Given the description of an element on the screen output the (x, y) to click on. 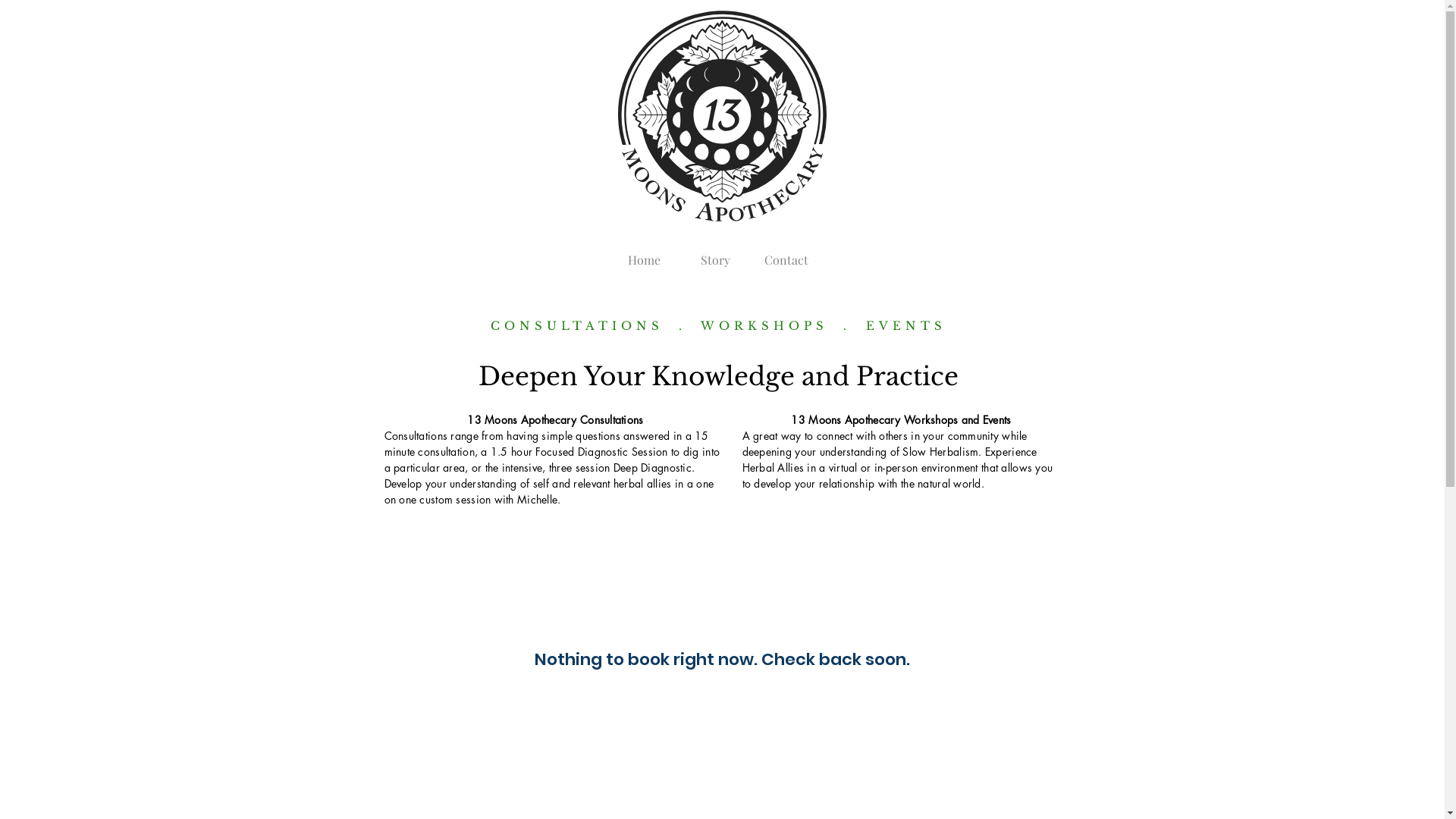
Story Element type: text (714, 253)
Home Element type: text (643, 253)
Contact Element type: text (786, 253)
